Given the description of an element on the screen output the (x, y) to click on. 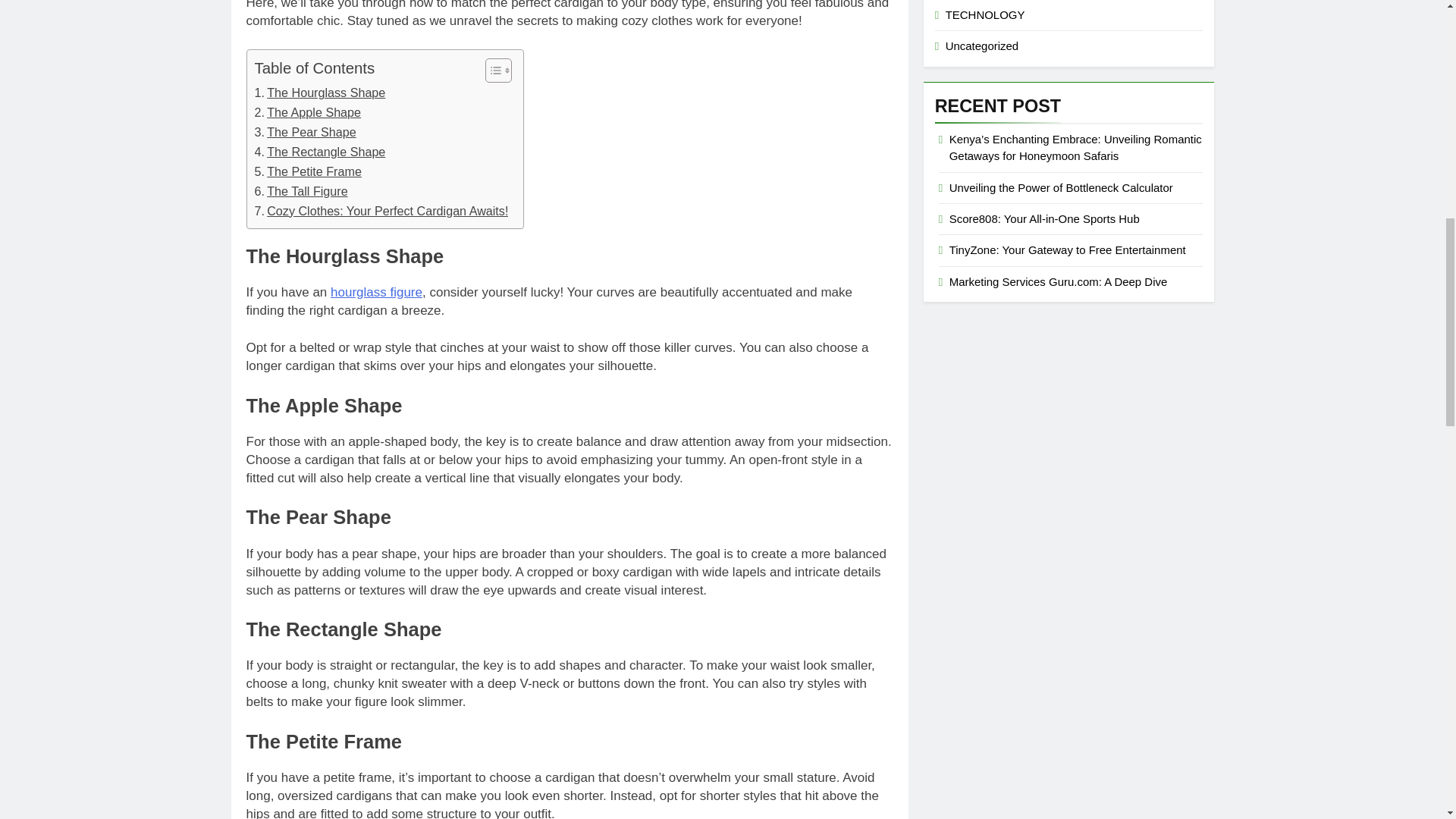
The Petite Frame (307, 171)
The Tall Figure (300, 191)
Cozy Clothes: Your Perfect Cardigan Awaits! (381, 211)
The Apple Shape (307, 112)
The Rectangle Shape (319, 152)
The Hourglass Shape (319, 93)
The Pear Shape (305, 132)
The Tall Figure (300, 191)
The Rectangle Shape (319, 152)
hourglass figure (376, 292)
The Apple Shape (307, 112)
The Hourglass Shape (319, 93)
Cozy Clothes: Your Perfect Cardigan Awaits! (381, 211)
The Petite Frame (307, 171)
The Pear Shape (305, 132)
